Given the description of an element on the screen output the (x, y) to click on. 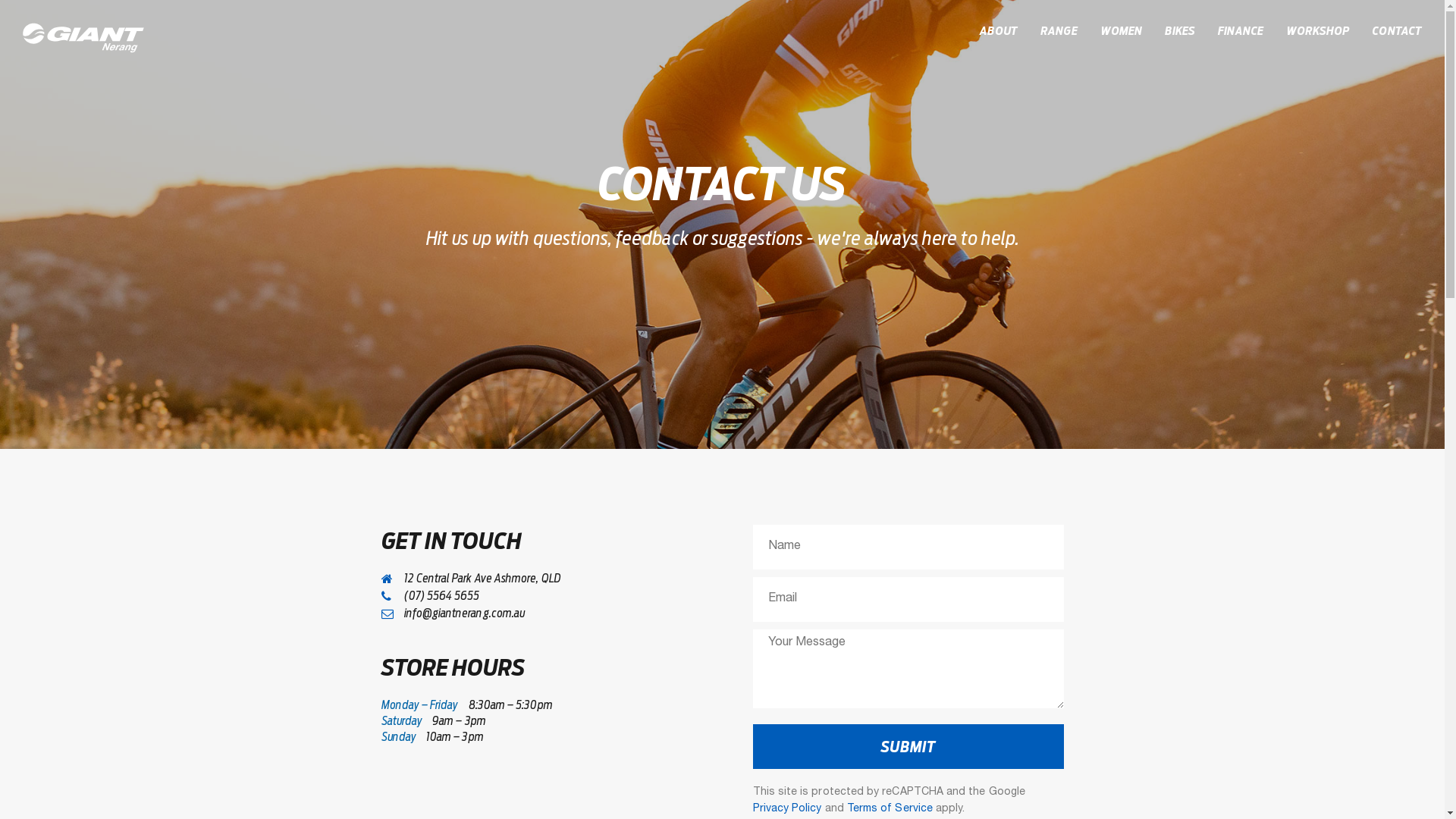
ABOUT Element type: text (998, 29)
SUBMIT Element type: text (907, 746)
CONTACT Element type: text (1396, 29)
Terms of Service Element type: text (889, 808)
Privacy Policy Element type: text (786, 808)
WORKSHOP Element type: text (1317, 29)
RANGE Element type: text (1058, 29)
info@giantnerang.com.au Element type: text (535, 613)
FINANCE Element type: text (1240, 29)
WOMEN Element type: text (1121, 29)
BIKES Element type: text (1179, 29)
